Given the description of an element on the screen output the (x, y) to click on. 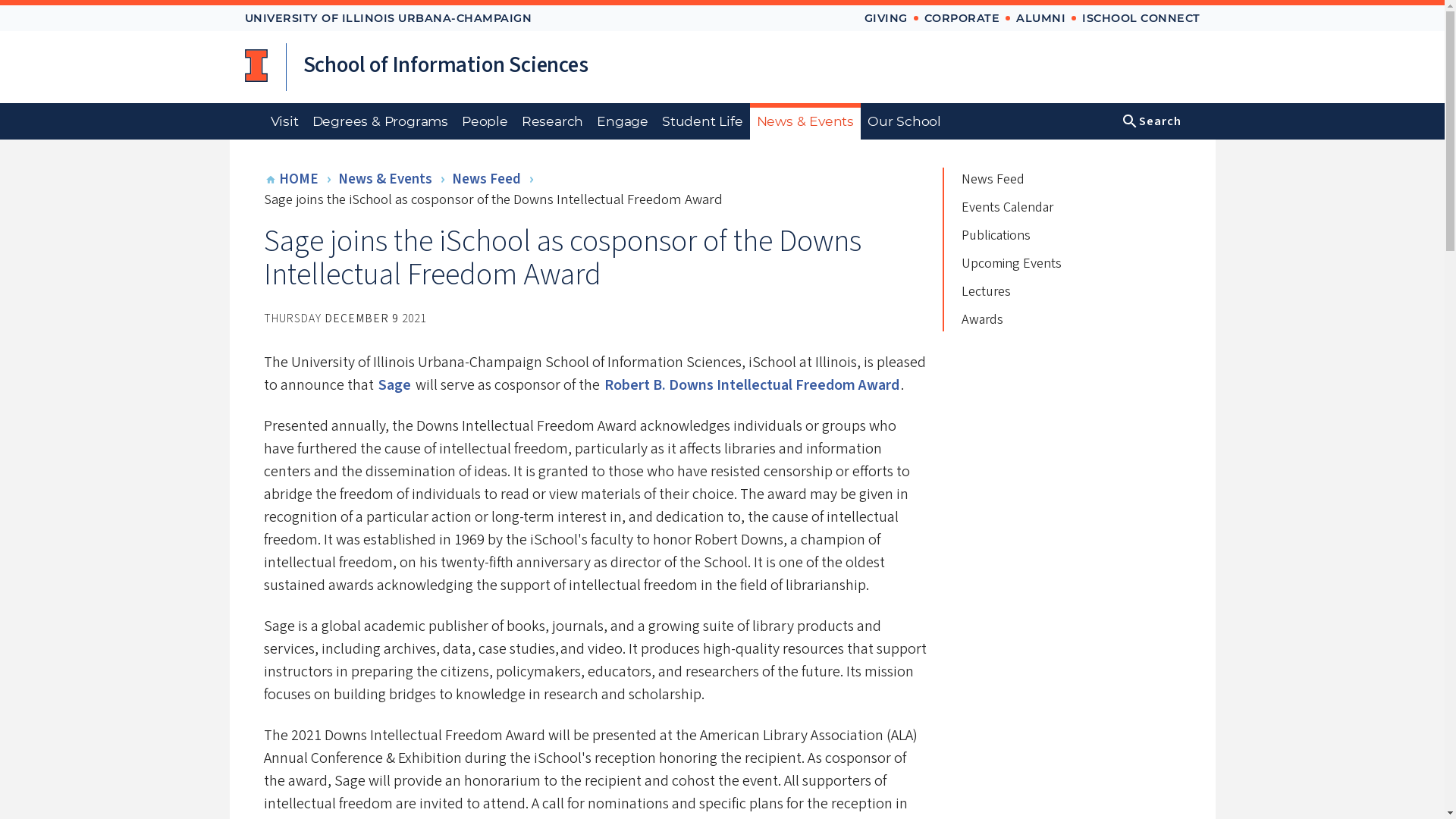
CORPORATE (960, 18)
SKIP TO MAIN CONTENT (928, 11)
GIVING (885, 18)
School of Information Sciences (445, 66)
ALUMNI (1040, 18)
ISCHOOL CONNECT (1140, 18)
Research (552, 121)
People (484, 121)
SKIP TO MAIN NAVIGATION (938, 11)
Visit (284, 121)
